Given the description of an element on the screen output the (x, y) to click on. 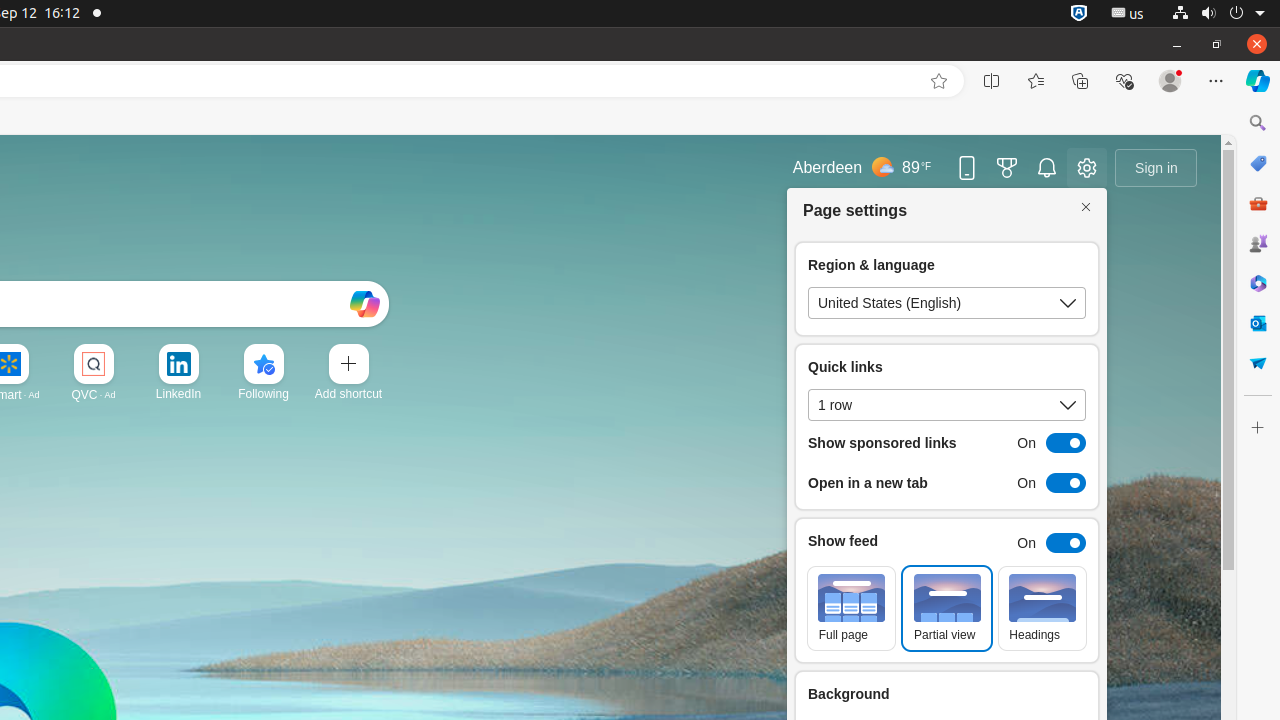
Open in a new tab On Element type: toggle-button (947, 483)
:1.72/StatusNotifierItem Element type: menu (1079, 13)
Add this page to favorites (Ctrl+D) Element type: push-button (939, 81)
Close Element type: push-button (1086, 208)
Games Element type: push-button (1258, 243)
